Given the description of an element on the screen output the (x, y) to click on. 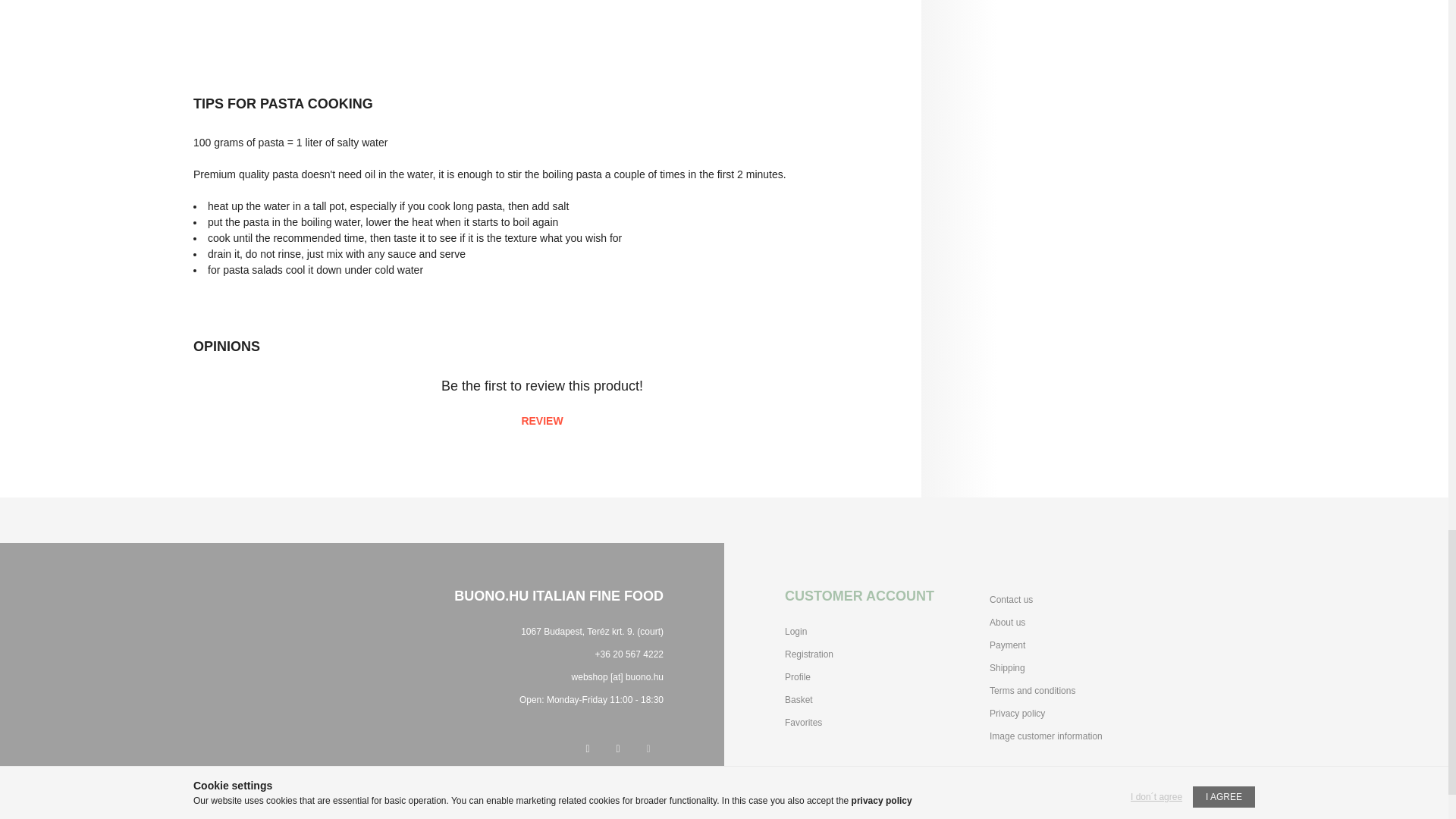
Cookie settings (648, 748)
